Given the description of an element on the screen output the (x, y) to click on. 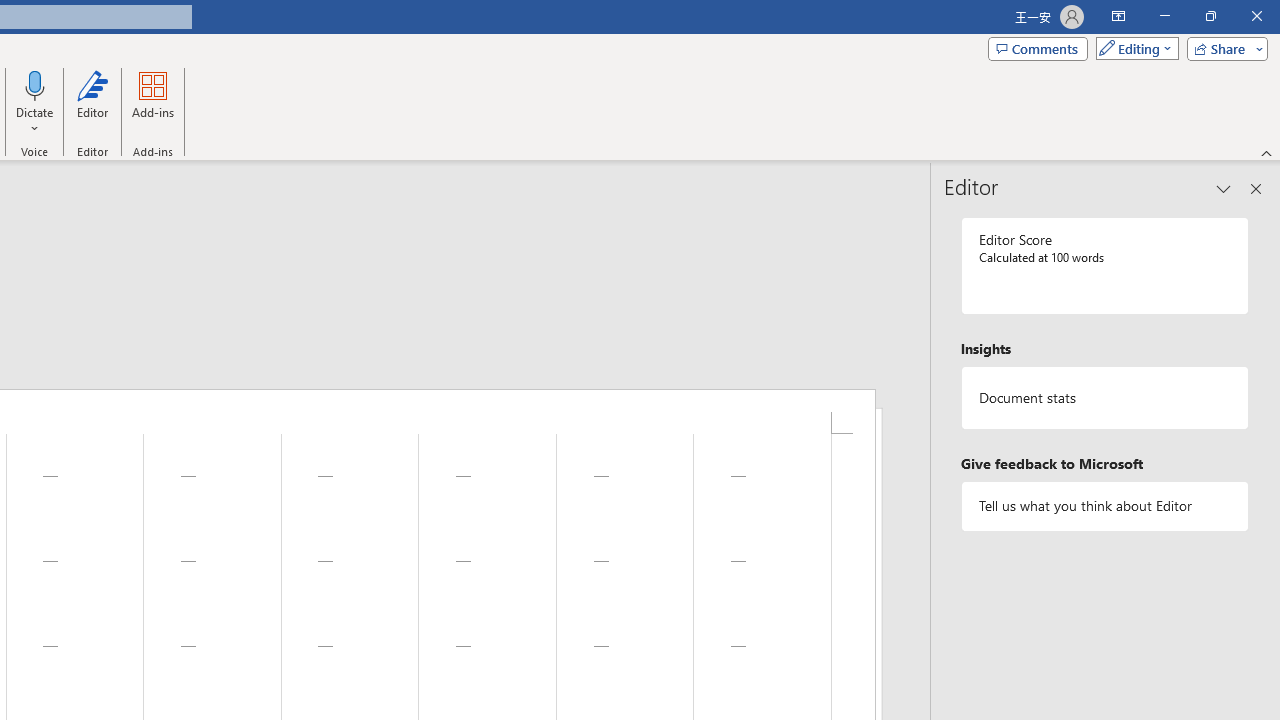
Mode (1133, 47)
Tell us what you think about Editor (1105, 506)
Editor (92, 102)
